Given the description of an element on the screen output the (x, y) to click on. 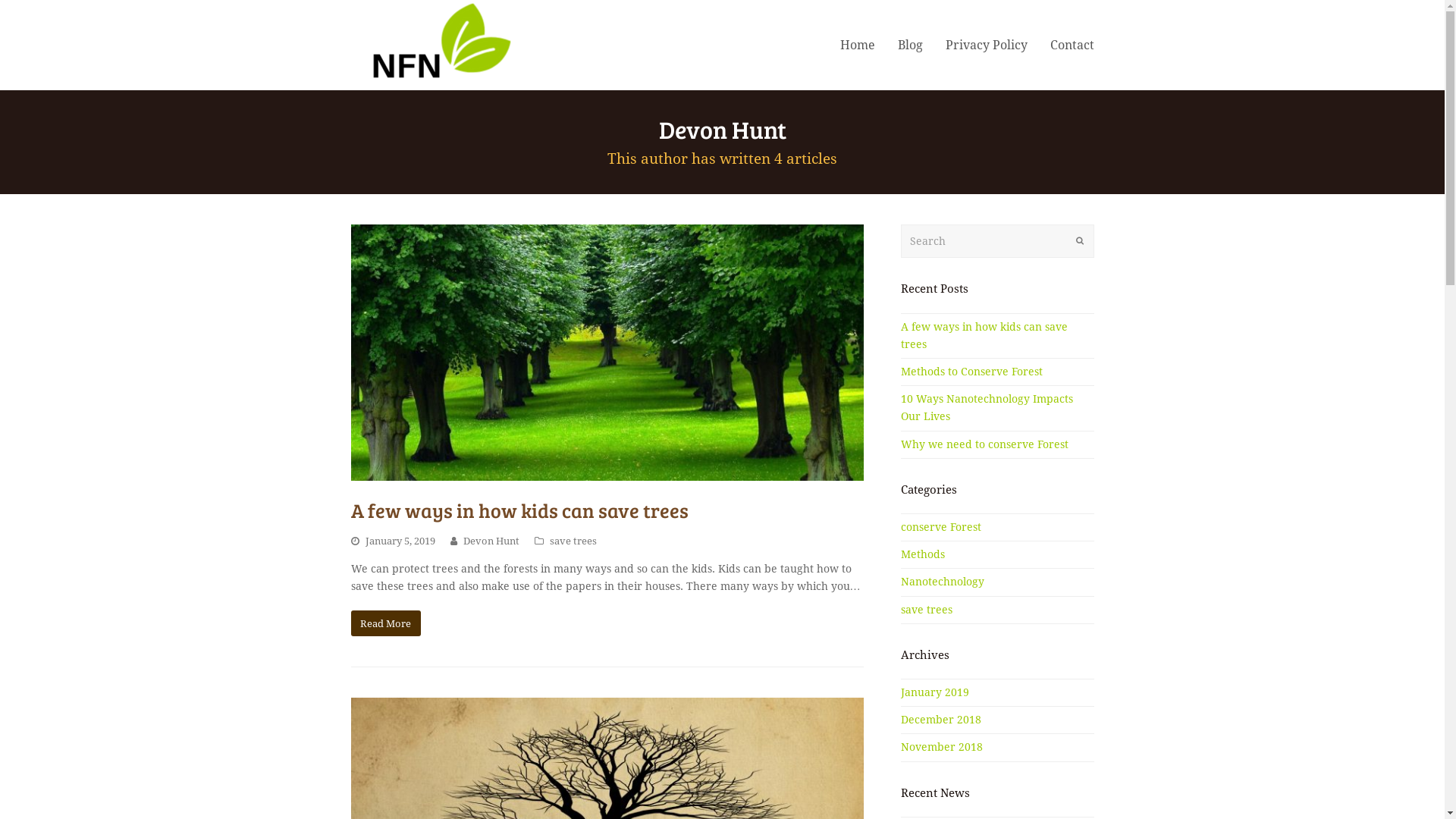
Read More Element type: text (385, 623)
Why we need to conserve Forest Element type: text (984, 444)
NFN Element type: hover (431, 43)
A few ways in how kids can save trees Element type: text (518, 509)
Contact Element type: text (1071, 44)
Devon Hunt Element type: text (490, 540)
A few ways in how kids can save trees Element type: text (983, 335)
Blog Element type: text (909, 44)
A few ways in how kids can save trees Element type: hover (606, 352)
Nanotechnology Element type: text (942, 581)
November 2018 Element type: text (941, 746)
Methods Element type: text (922, 554)
Privacy Policy Element type: text (986, 44)
Submit Element type: text (1078, 240)
save trees Element type: text (926, 609)
December 2018 Element type: text (940, 719)
save trees Element type: text (572, 540)
Methods to Conserve Forest Element type: text (971, 371)
Home Element type: text (856, 44)
January 2019 Element type: text (934, 692)
conserve Forest Element type: text (940, 526)
10 Ways Nanotechnology Impacts Our Lives Element type: text (986, 407)
